Given the description of an element on the screen output the (x, y) to click on. 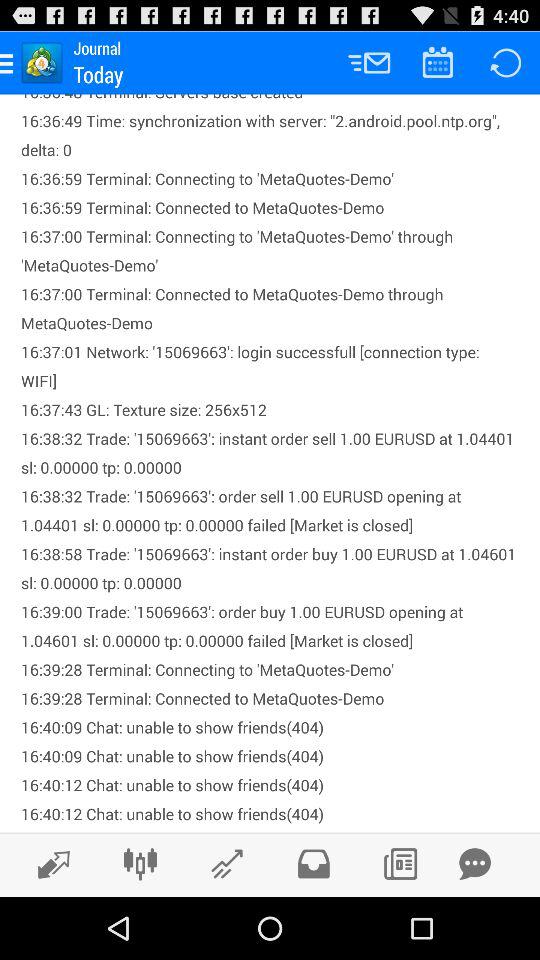
new message (475, 864)
